Given the description of an element on the screen output the (x, y) to click on. 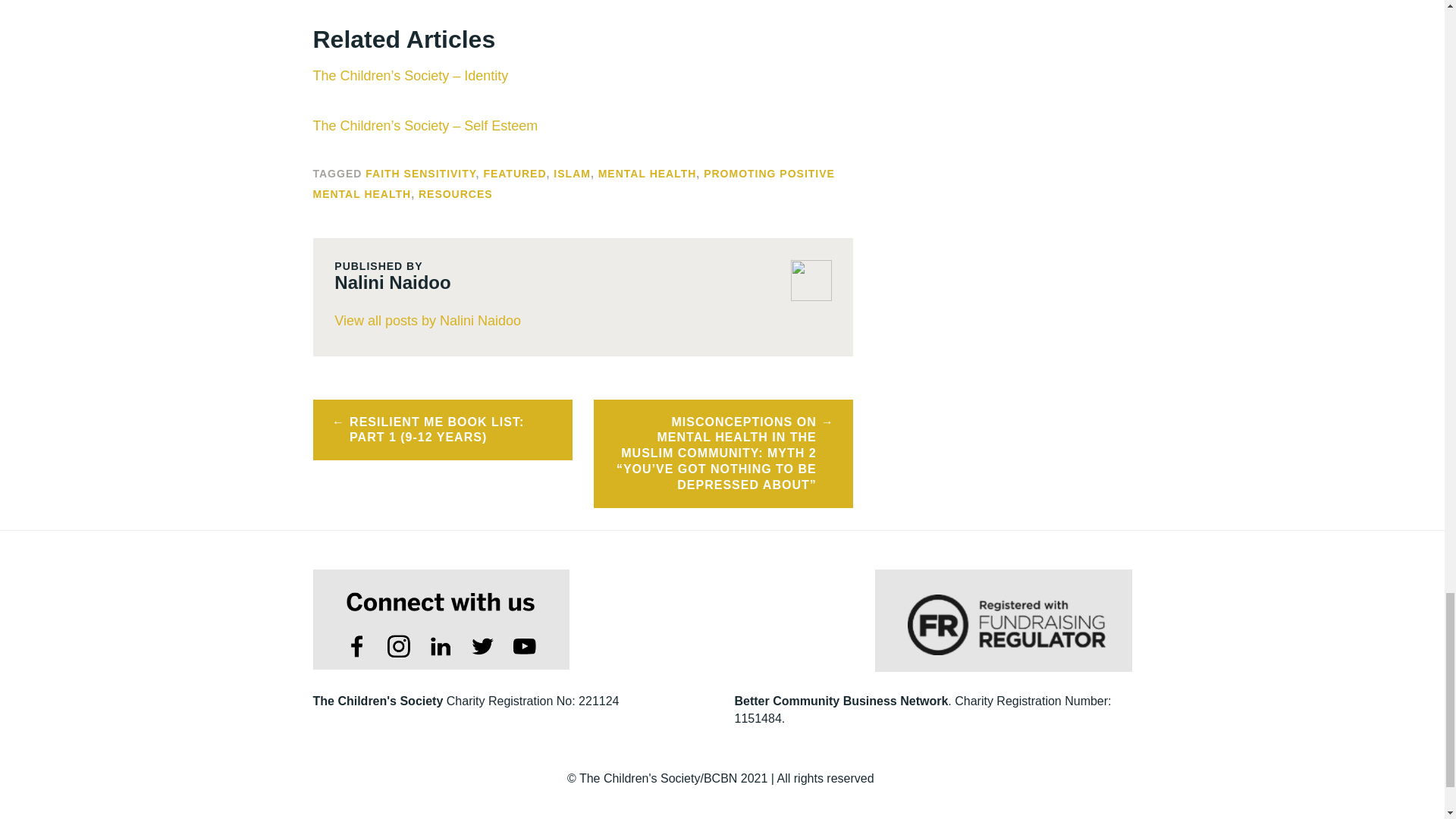
FAITH SENSITIVITY (420, 173)
ISLAM (572, 173)
MENTAL HEALTH (647, 173)
View all posts by Nalini Naidoo (582, 321)
PROMOTING POSITIVE MENTAL HEALTH (573, 183)
FEATURED (514, 173)
RESOURCES (456, 193)
